Given the description of an element on the screen output the (x, y) to click on. 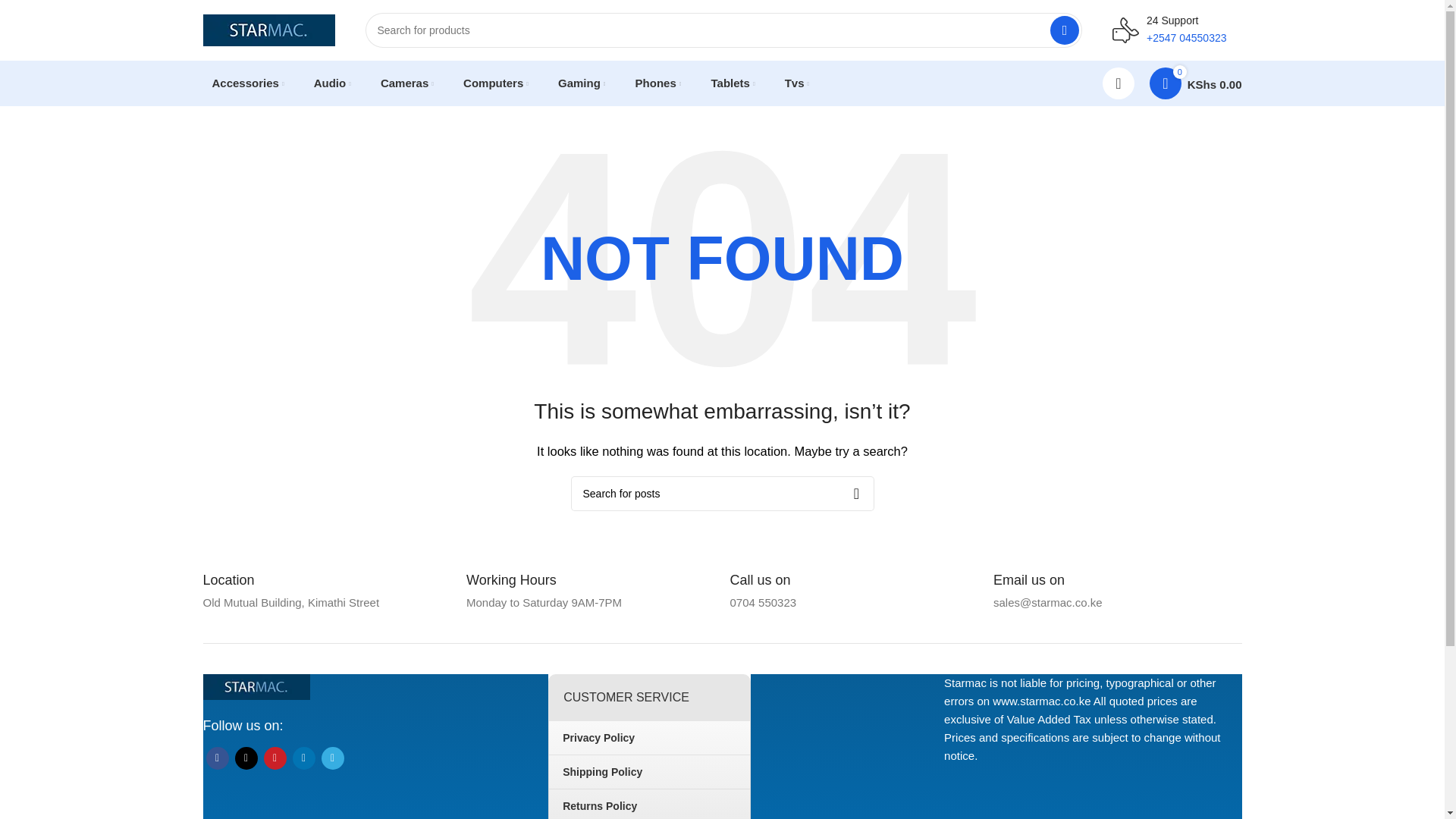
Cameras (406, 82)
Audio (331, 82)
Shopping cart (1195, 82)
Search for posts (721, 493)
Search (1063, 30)
Accessories (248, 82)
My account (1117, 82)
Search for products (724, 30)
support (1125, 29)
